Given the description of an element on the screen output the (x, y) to click on. 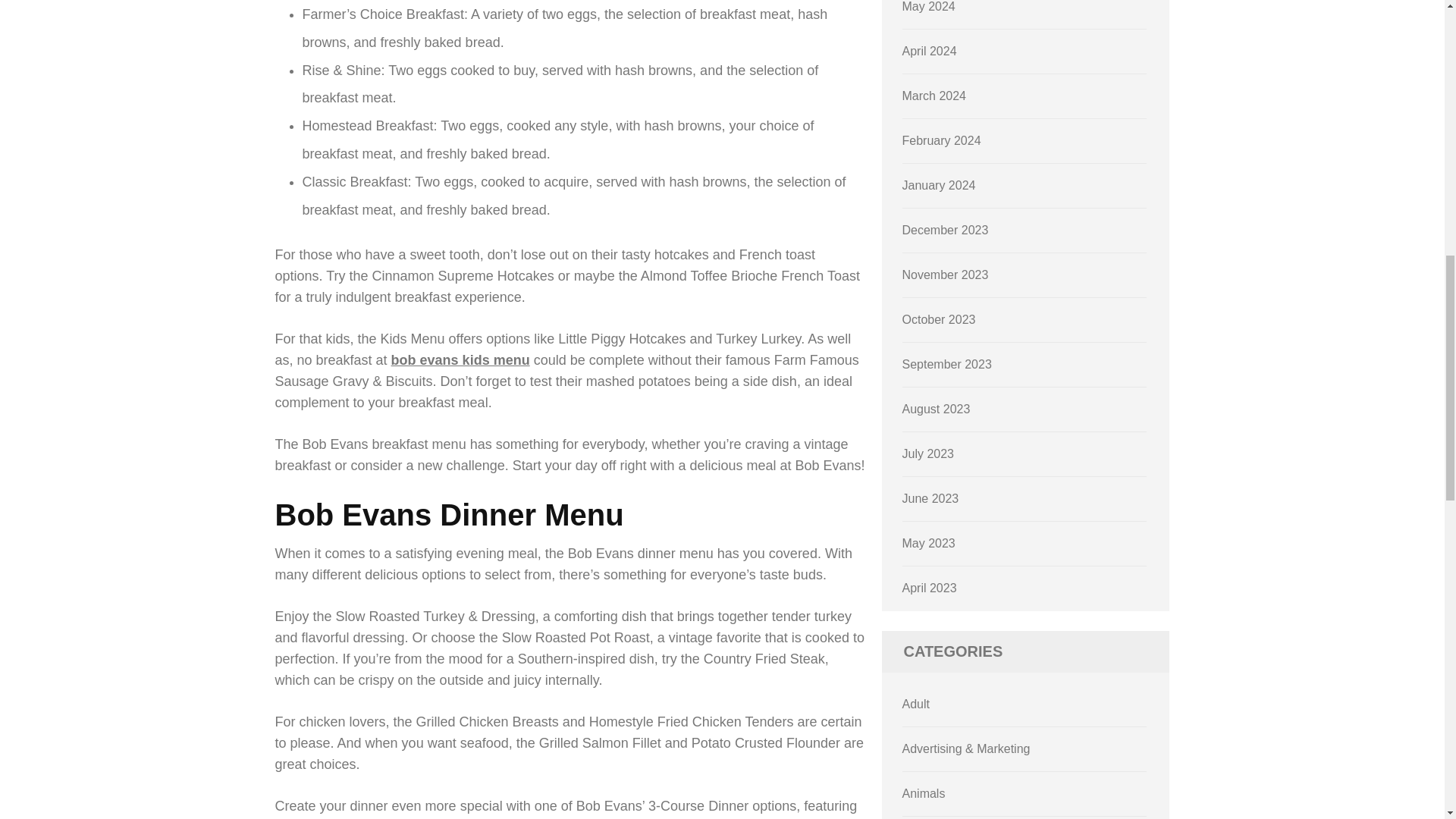
April 2023 (929, 587)
April 2024 (929, 51)
May 2023 (928, 543)
bob evans kids menu (460, 359)
November 2023 (945, 274)
February 2024 (941, 140)
December 2023 (945, 229)
June 2023 (930, 498)
January 2024 (938, 185)
September 2023 (946, 364)
May 2024 (928, 6)
October 2023 (938, 318)
March 2024 (934, 95)
July 2023 (928, 453)
August 2023 (936, 408)
